Given the description of an element on the screen output the (x, y) to click on. 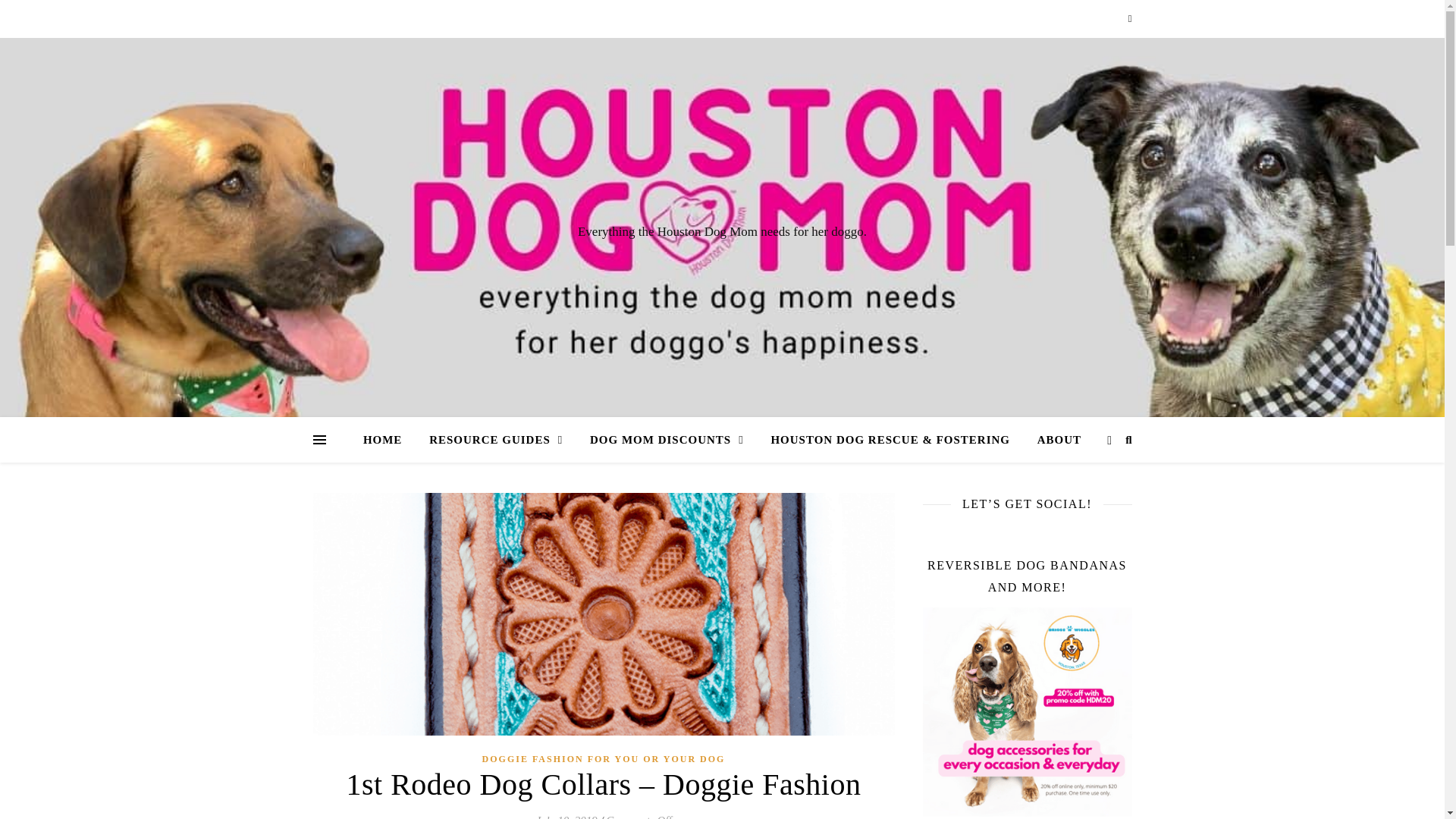
HOME (388, 439)
ABOUT (1053, 439)
DOG MOM DISCOUNTS (666, 439)
RESOURCE GUIDES (495, 439)
